Given the description of an element on the screen output the (x, y) to click on. 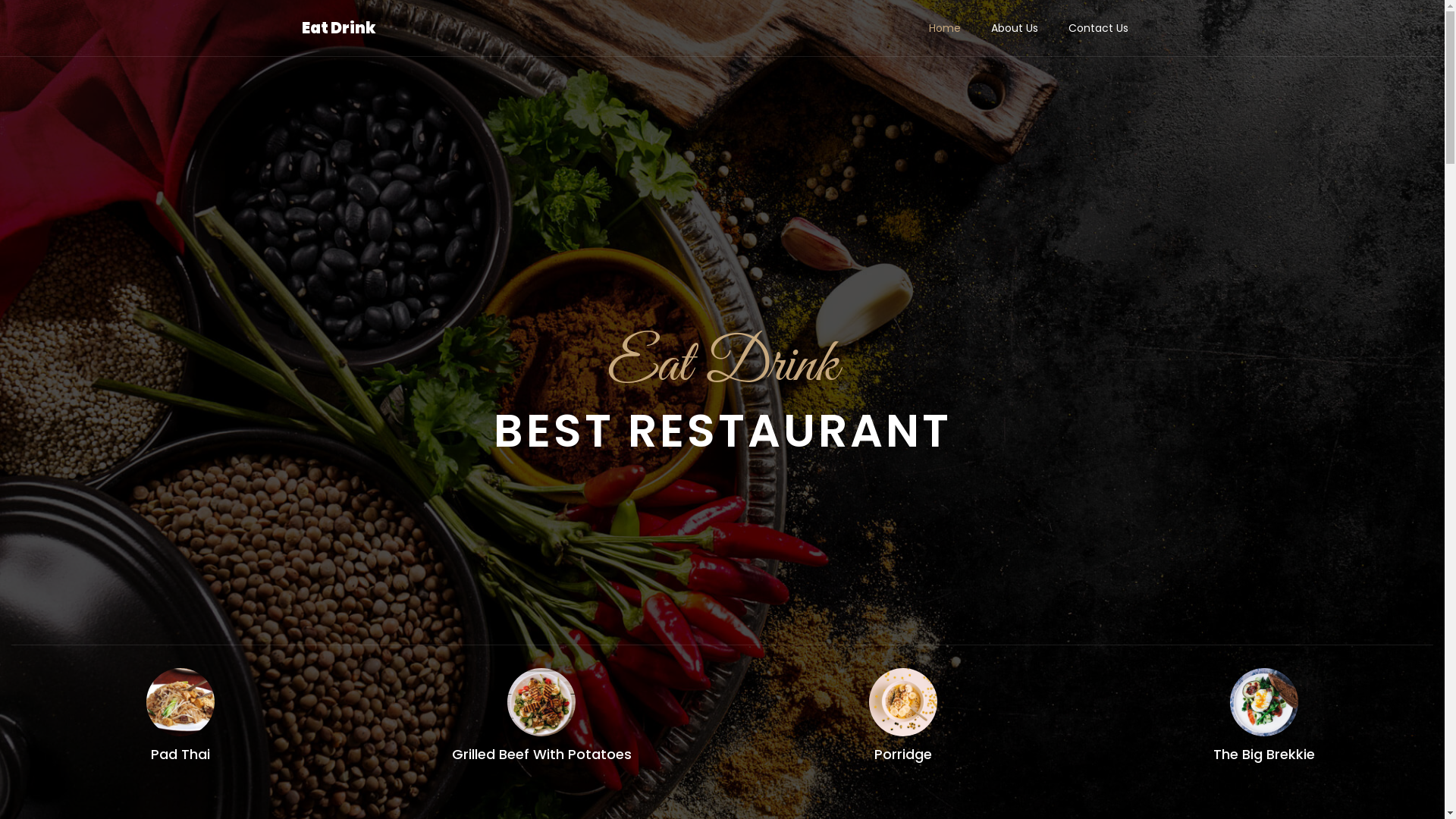
About Us Element type: text (1013, 27)
Home Element type: text (944, 27)
Contact Us Element type: text (1097, 27)
Eat Drink Element type: text (338, 28)
